Given the description of an element on the screen output the (x, y) to click on. 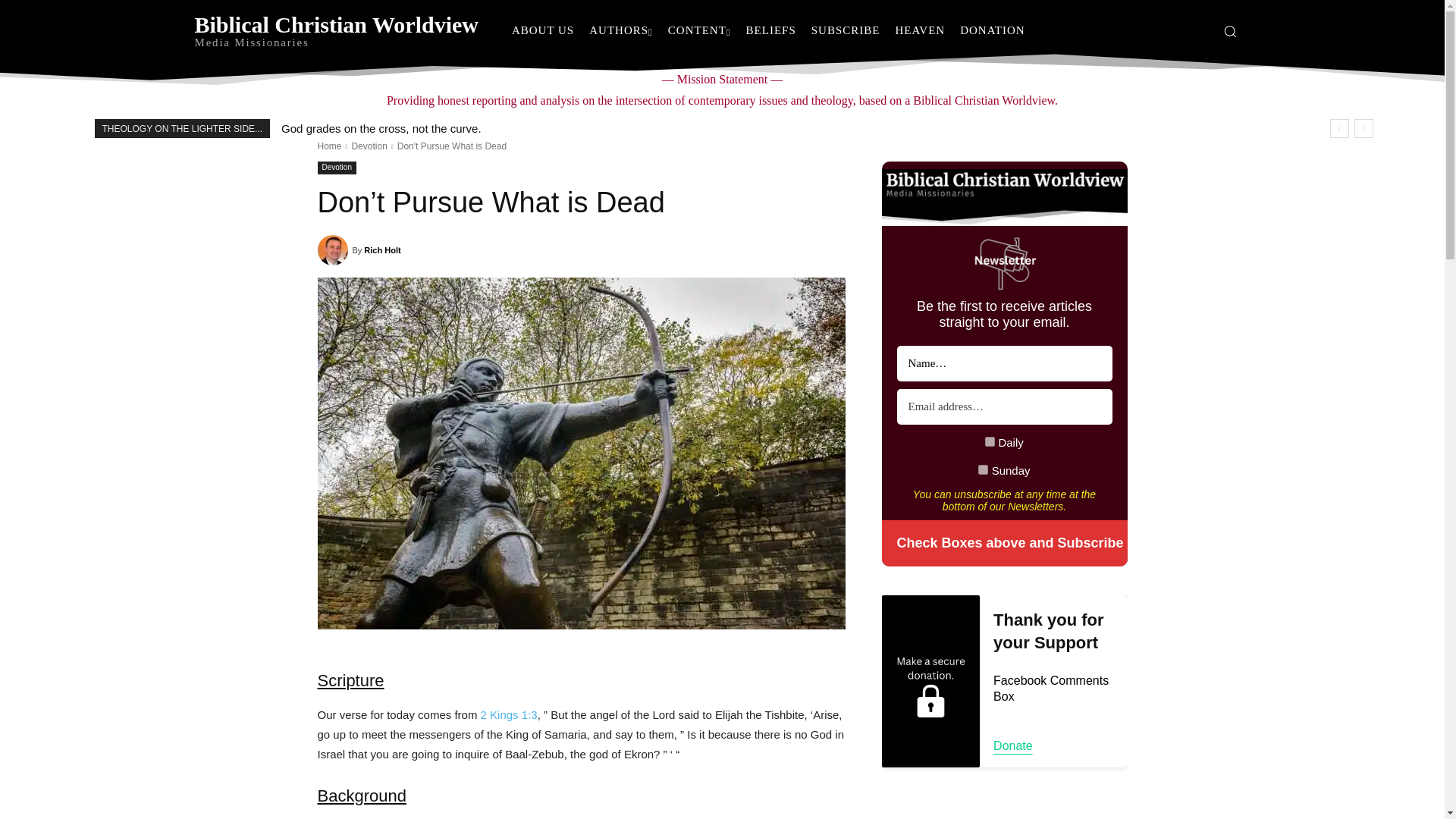
View all posts in Devotion (368, 145)
Rich Holt (334, 250)
Check Boxes above and Subscribe (1003, 543)
iizT3HUV892uRdZ0gxWr3orA (989, 441)
prOR2nbP5RwaciBRQ11KQQ (983, 470)
God grades on the cross, not the curve. (380, 128)
